Given the description of an element on the screen output the (x, y) to click on. 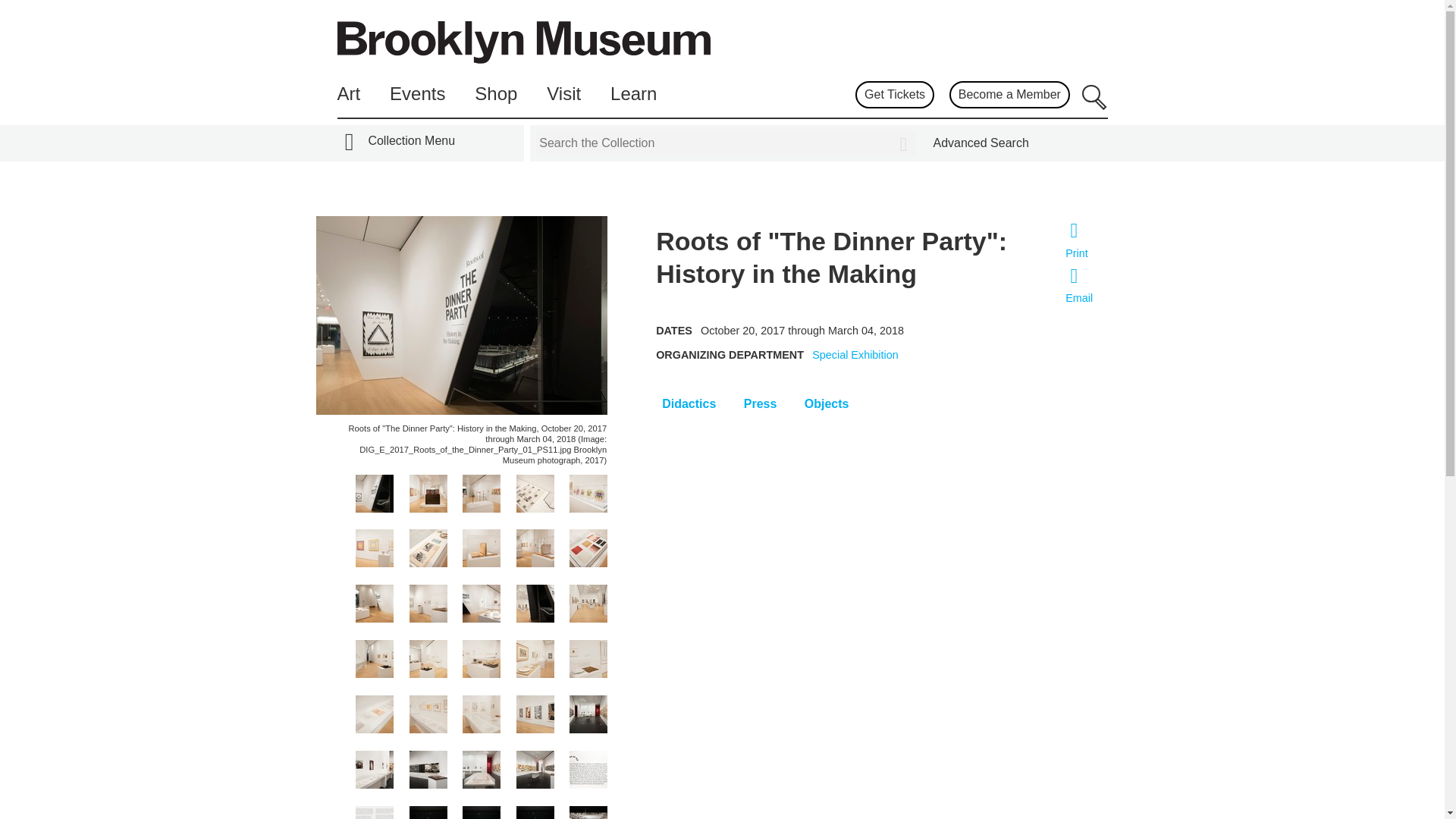
Visit (563, 94)
Shop (495, 94)
Learn (633, 94)
Get Tickets (894, 94)
Events (417, 94)
Art (347, 94)
Become a Member (1008, 94)
